Given the description of an element on the screen output the (x, y) to click on. 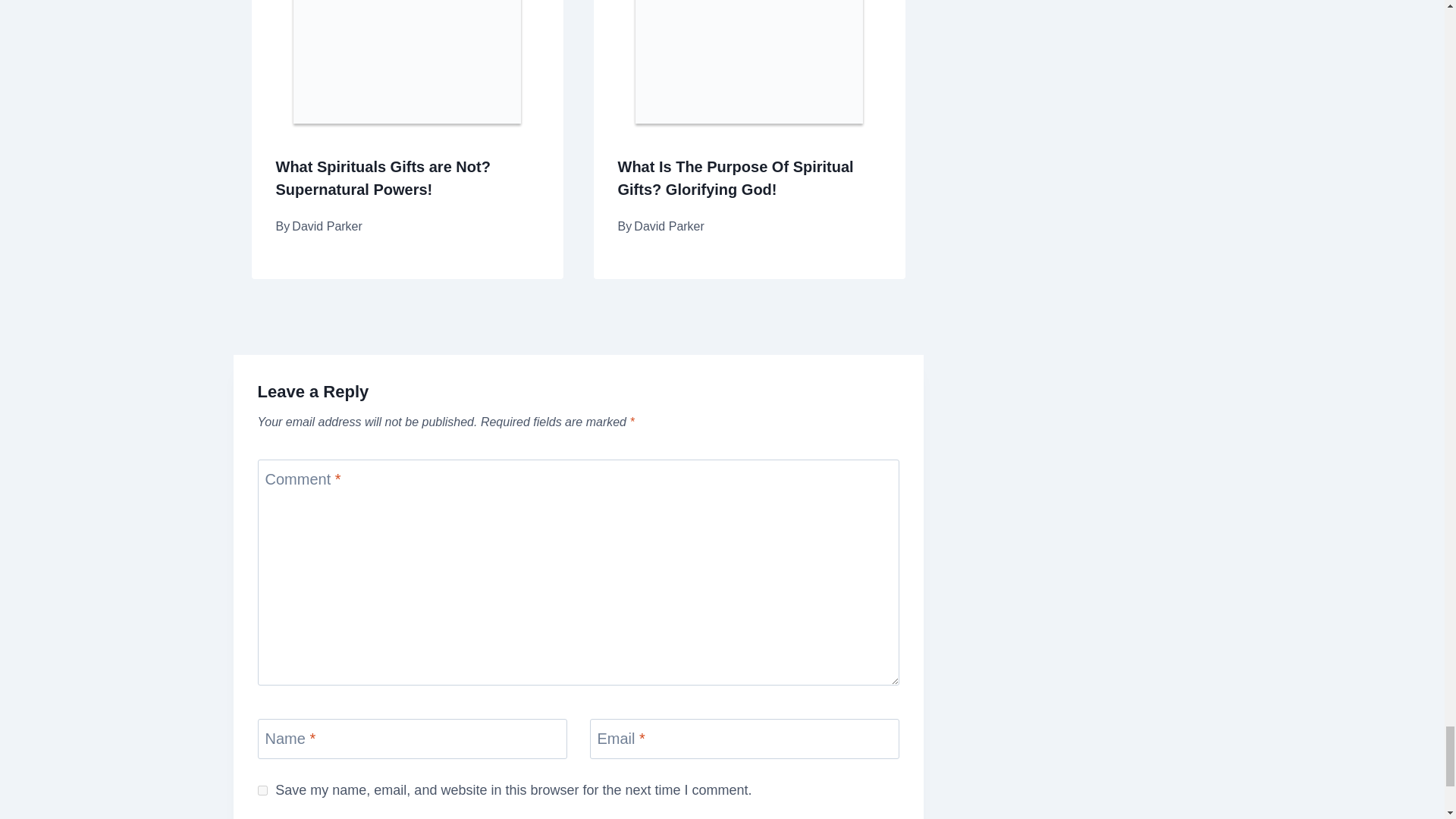
yes (262, 790)
